Given the description of an element on the screen output the (x, y) to click on. 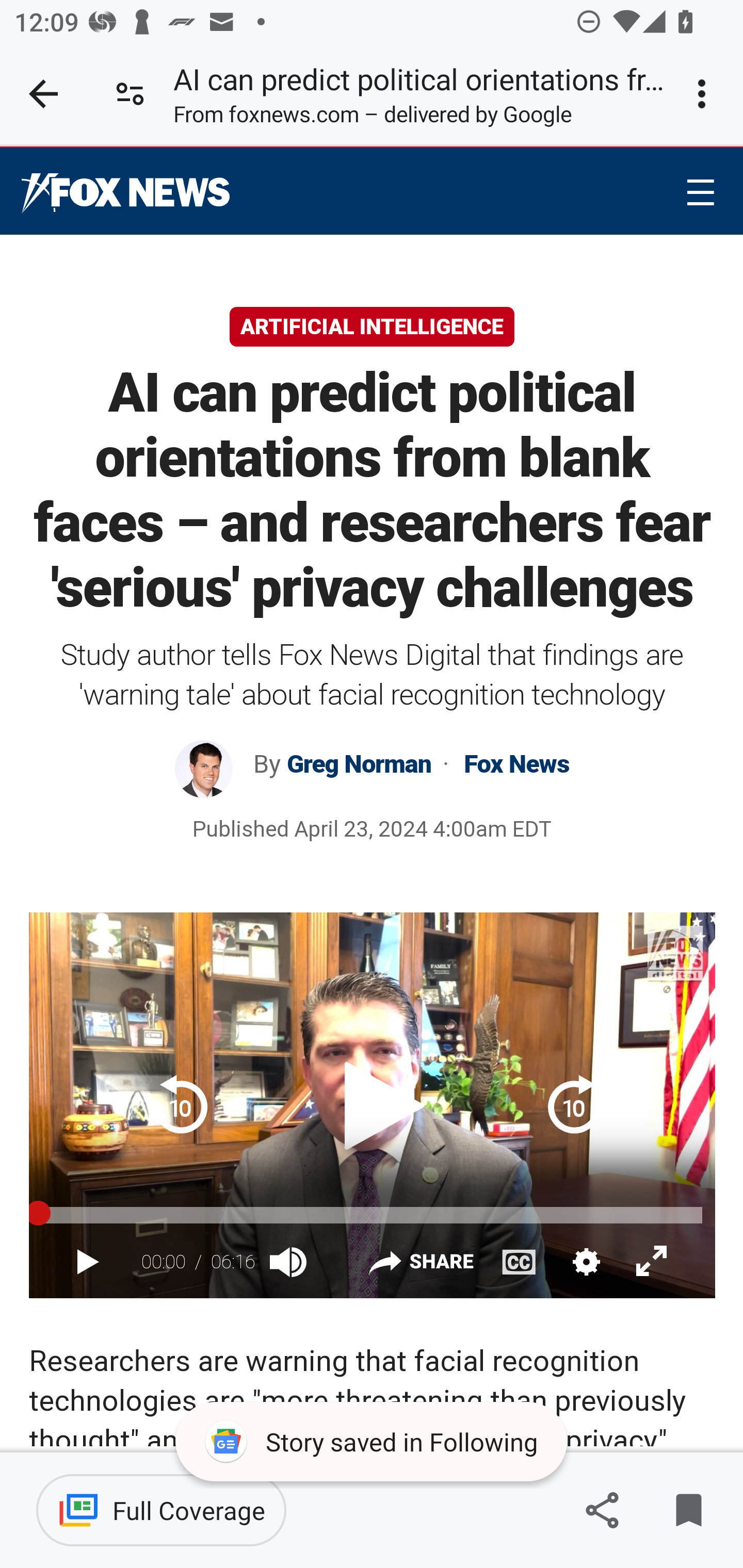
Close tab (43, 93)
Customize and control Google Chrome (705, 93)
Connection is secure (129, 93)
From foxnews.com – delivered by Google (372, 117)
☰ (700, 191)
Fox News (126, 193)
ARTIFICIAL INTELLIGENCE (371, 326)
Greg Norman  (361, 764)
 Fox News (513, 764)
Play (371, 1104)
Jump Back (183, 1104)
Jump Ahead (577, 1104)
00:00 of 06:16, Seek (371, 1214)
Closed Captioning (518, 1261)
Mute (290, 1260)
Toggle Fullscreen Mode (651, 1261)
Settings (585, 1261)
Play (88, 1262)
Share (420, 1265)
Full Coverage (161, 1509)
Share (601, 1510)
Remove from saved stories (688, 1510)
